Given the description of an element on the screen output the (x, y) to click on. 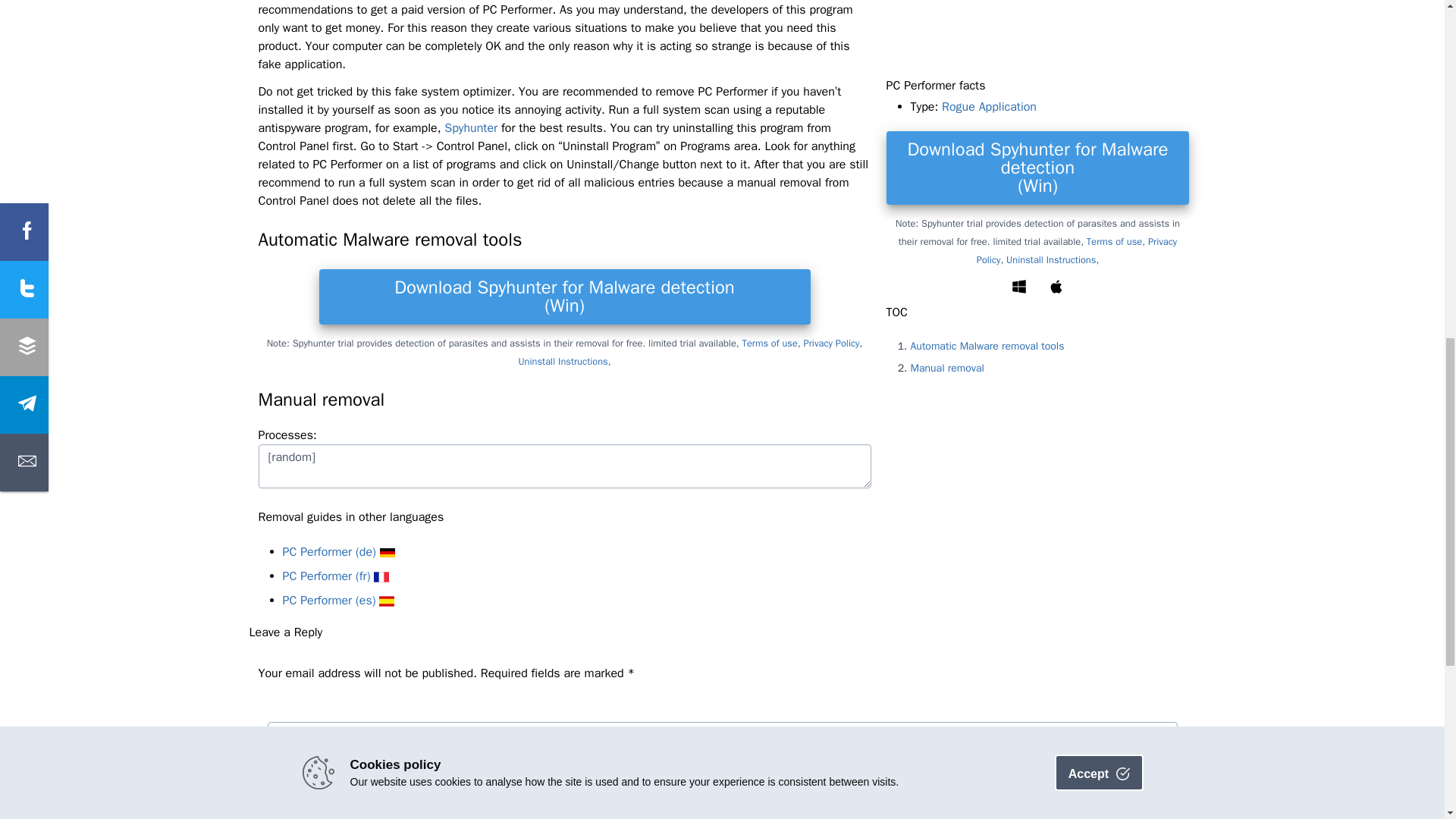
Flag of Germany (387, 552)
Privacy Policy (831, 343)
Uninstall Instructions (562, 361)
Spyhunter (470, 128)
Terms of use (769, 343)
